Given the description of an element on the screen output the (x, y) to click on. 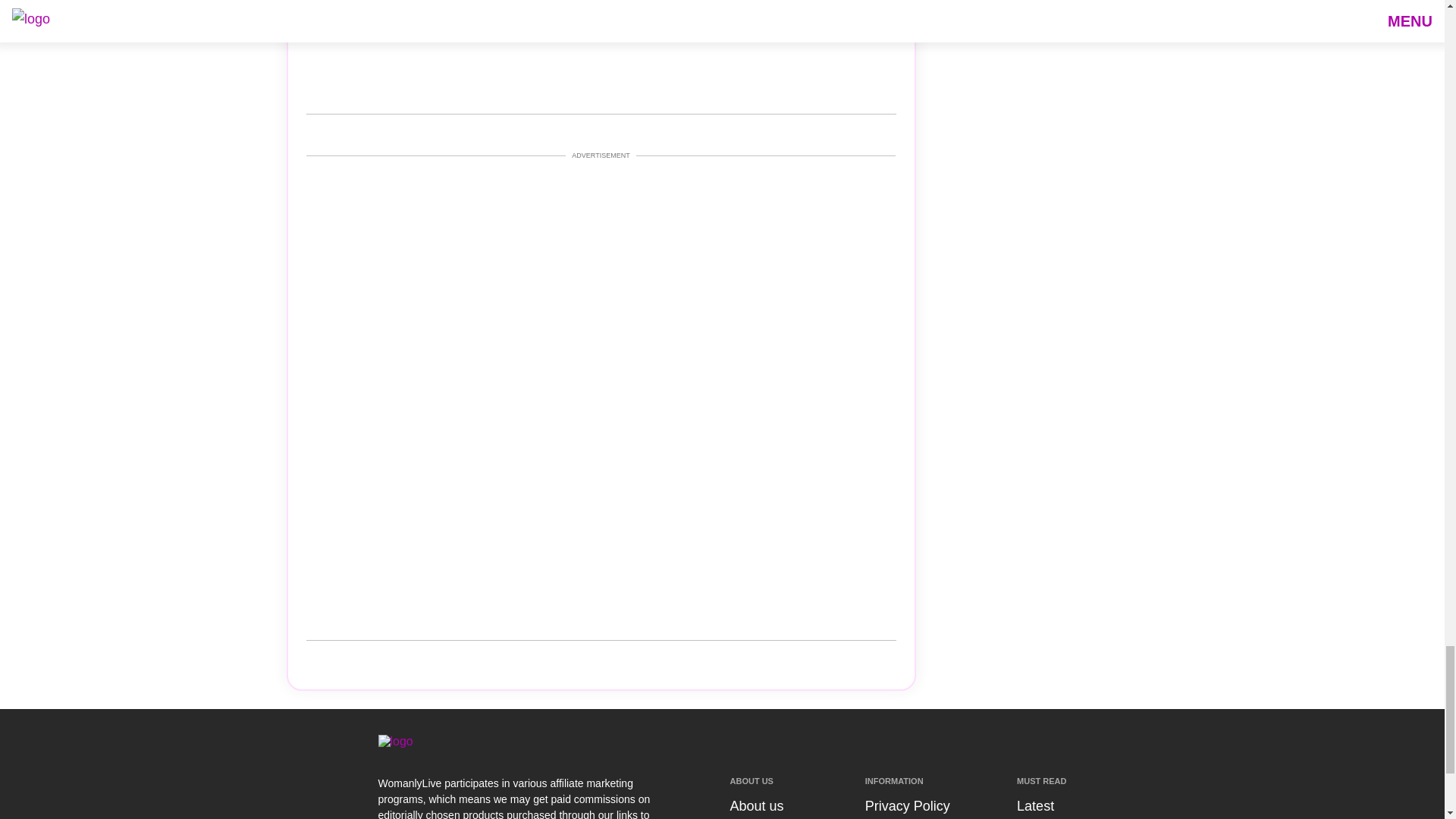
About us (756, 806)
